Given the description of an element on the screen output the (x, y) to click on. 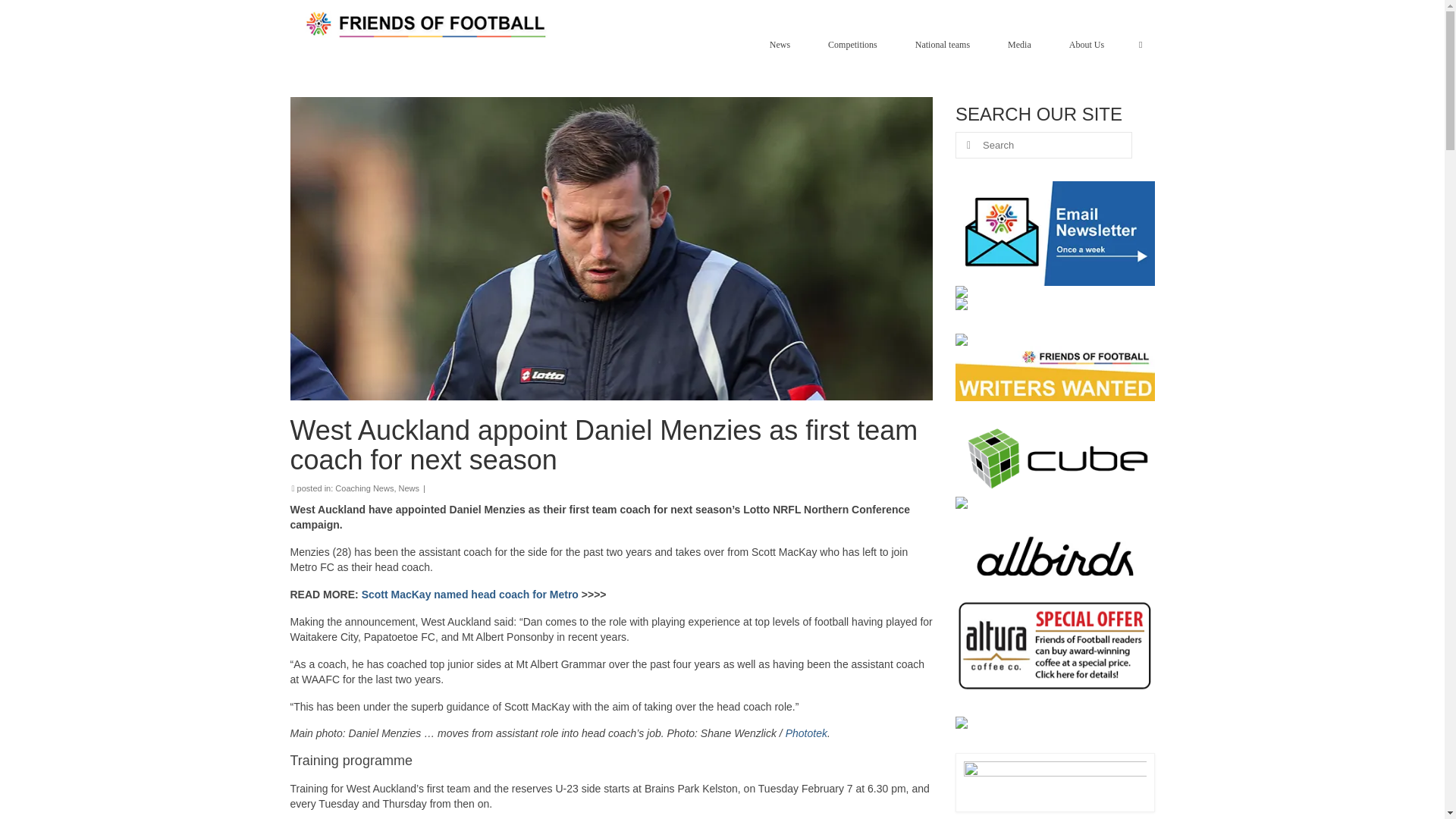
Competitions (855, 44)
National teams (945, 44)
Media (1023, 44)
Friends of Football (428, 23)
News (783, 44)
About Us (1090, 44)
Search (1140, 44)
